Given the description of an element on the screen output the (x, y) to click on. 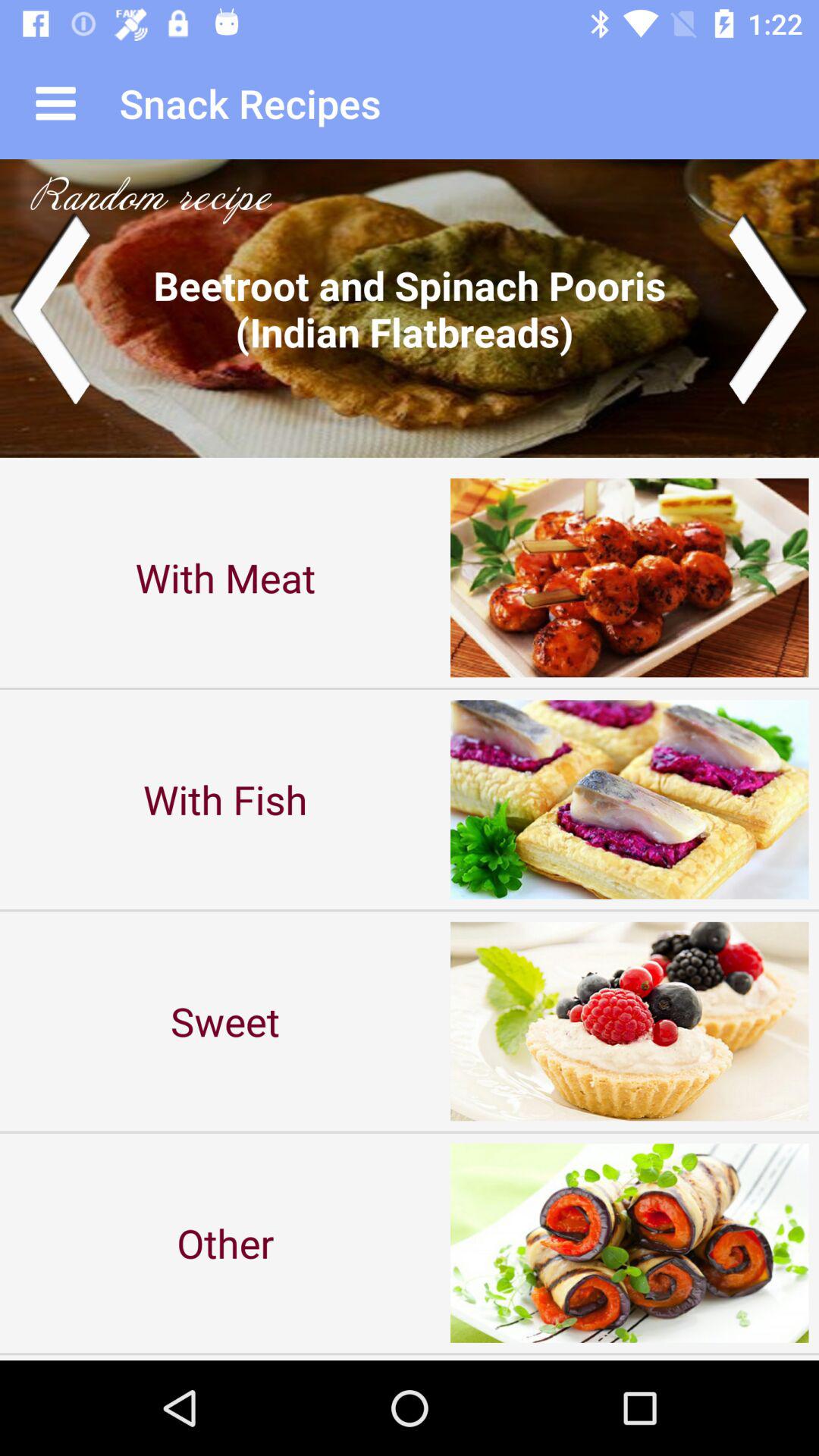
turn on icon above with meat item (409, 308)
